Given the description of an element on the screen output the (x, y) to click on. 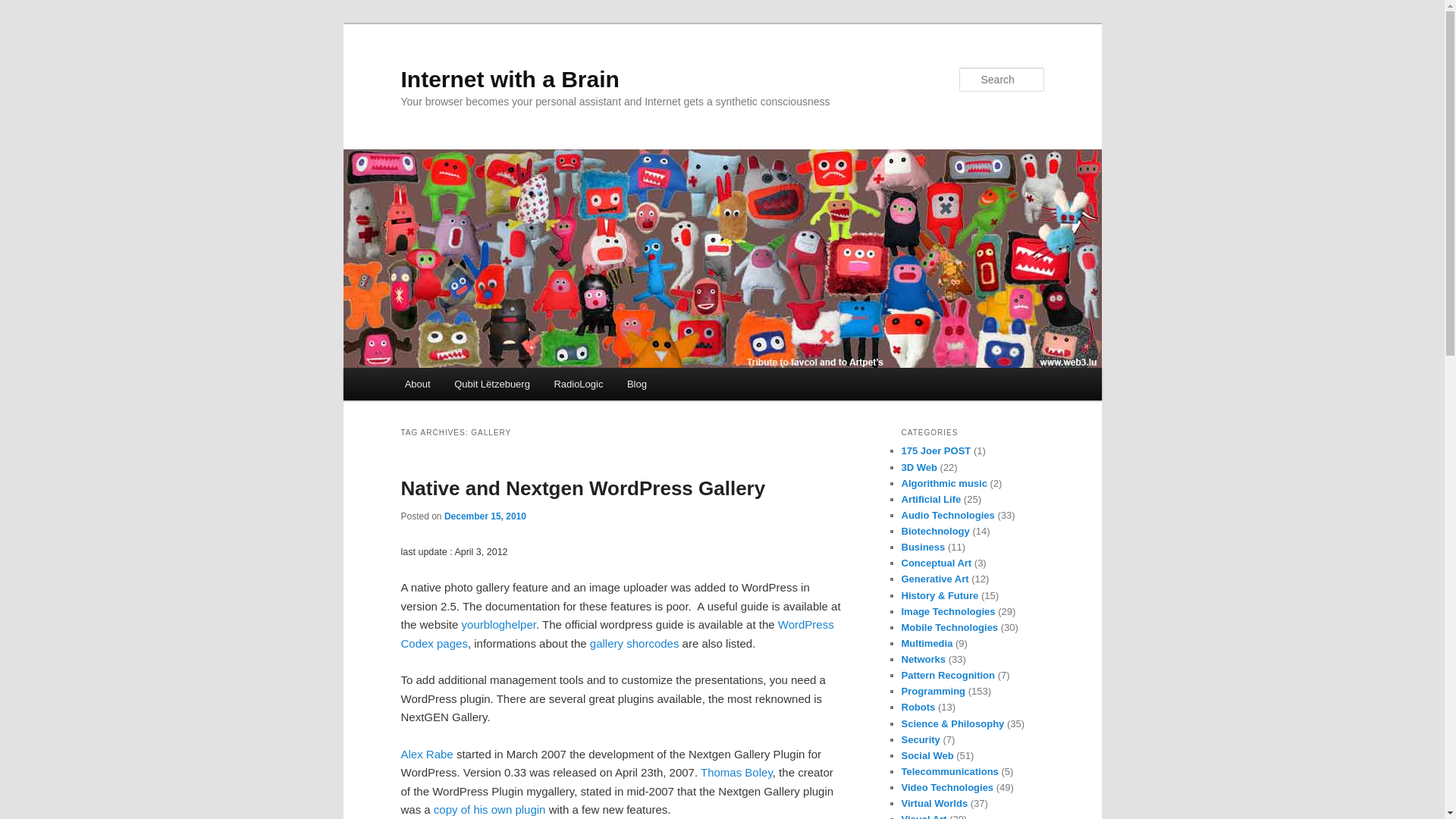
gallery shorcodes (635, 643)
22:30 (484, 516)
Internet with a Brain (509, 78)
Thoams Boley (736, 771)
175 Joer POST (936, 450)
Alex Rabe (426, 753)
Wordpress native gallery (616, 633)
Yourbloghelper (498, 624)
Wordpress gallery shortcodes (635, 643)
